Given the description of an element on the screen output the (x, y) to click on. 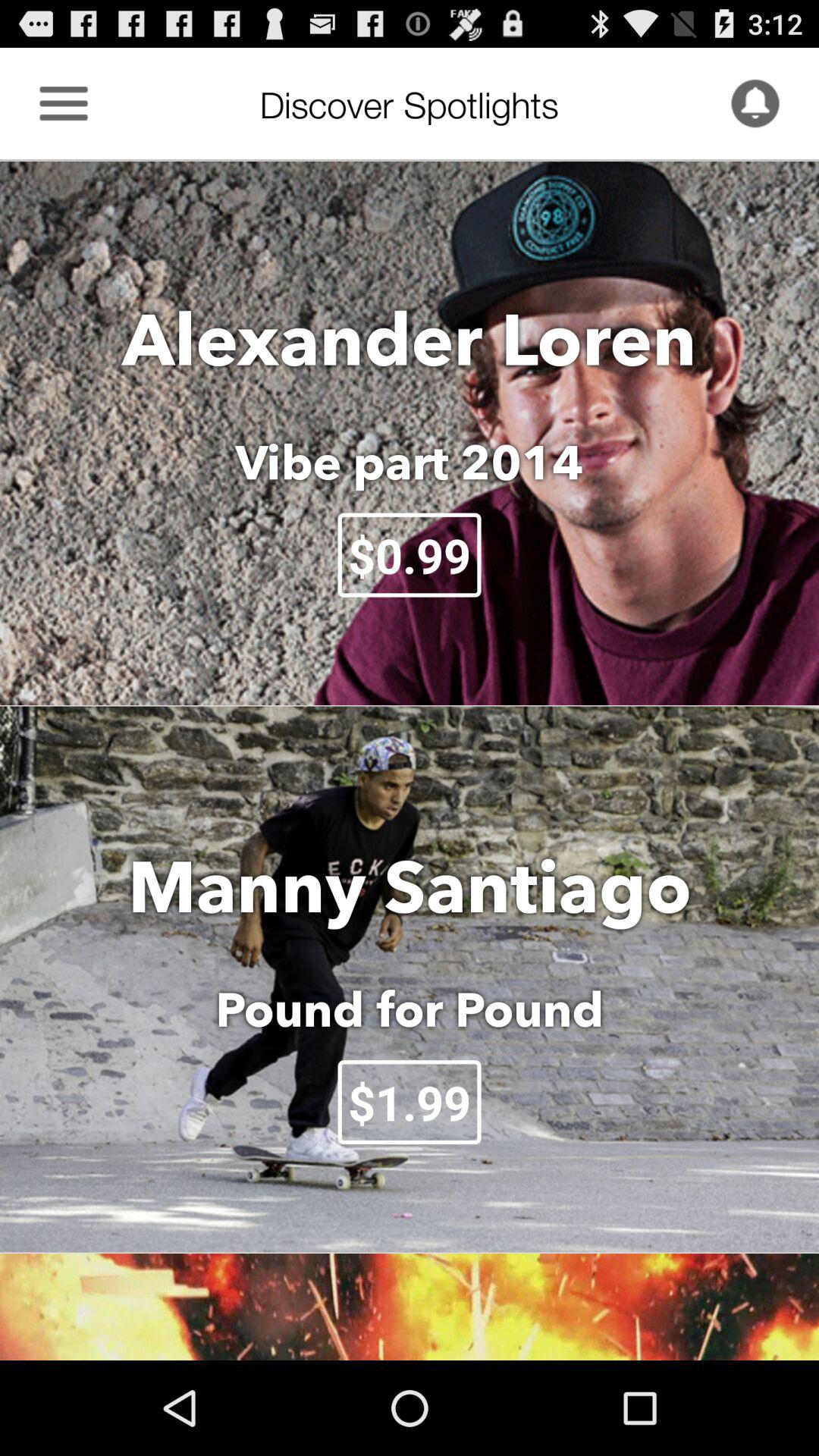
press manny santiago item (409, 885)
